Given the description of an element on the screen output the (x, y) to click on. 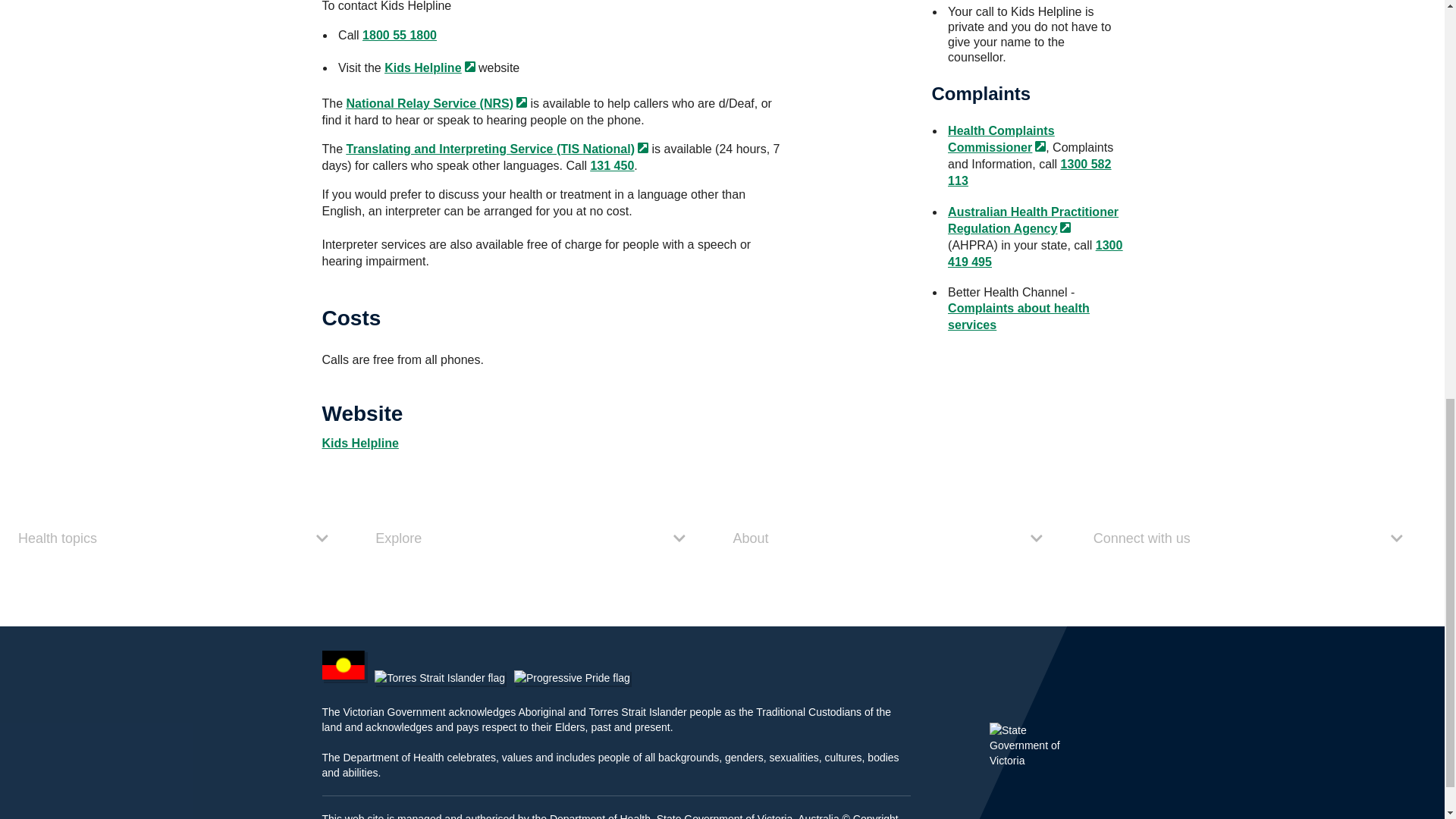
External Link (642, 147)
External Link (521, 102)
External Link (1040, 145)
External Link (1064, 226)
External Link (470, 66)
